Given the description of an element on the screen output the (x, y) to click on. 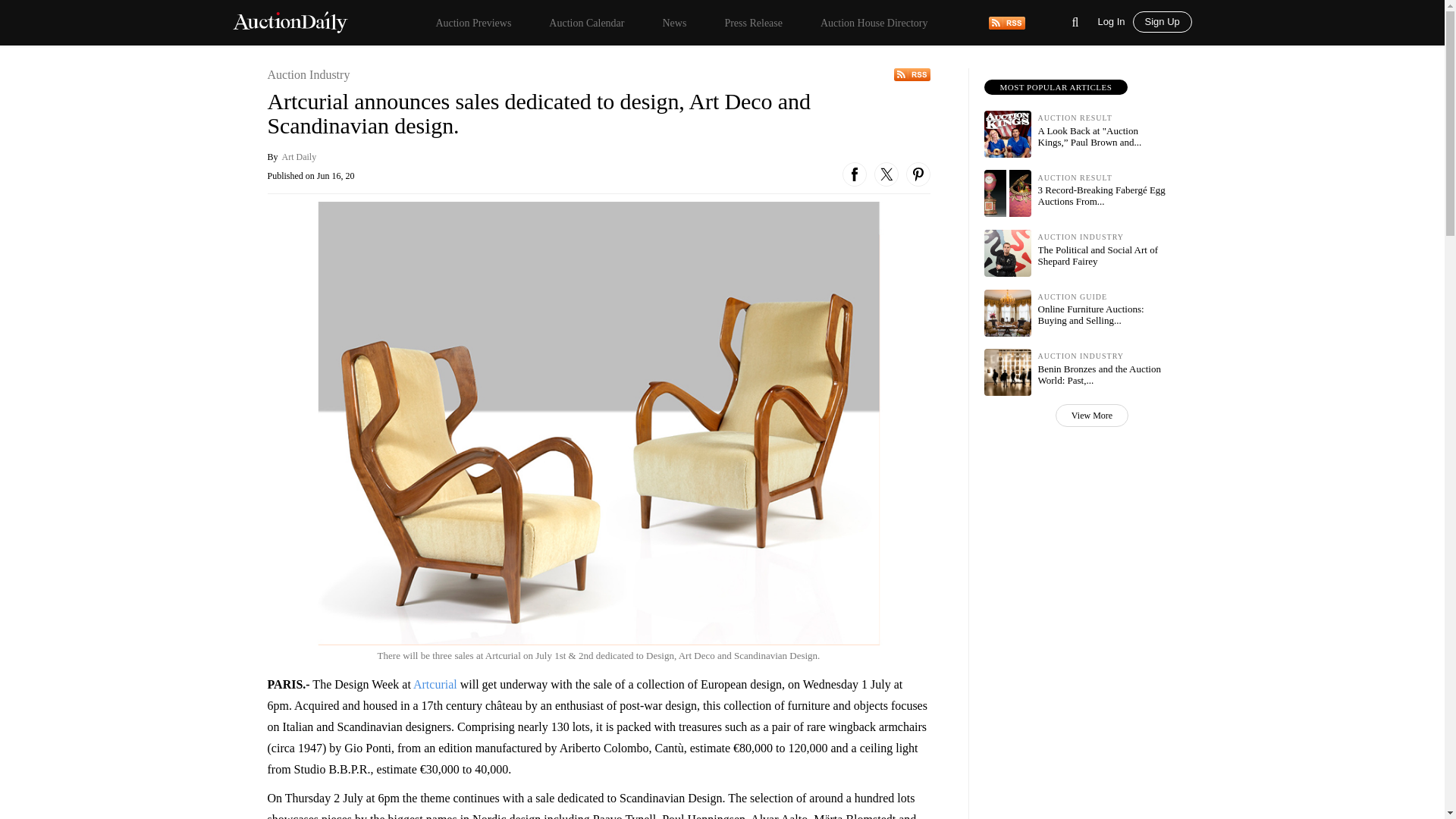
Press Release (753, 22)
Sign Up (1162, 21)
View Our News Feed (1006, 21)
Auction Calendar (586, 22)
News (673, 22)
Artcurial (435, 684)
Log In (1114, 20)
Auction House Directory (874, 22)
